Given the description of an element on the screen output the (x, y) to click on. 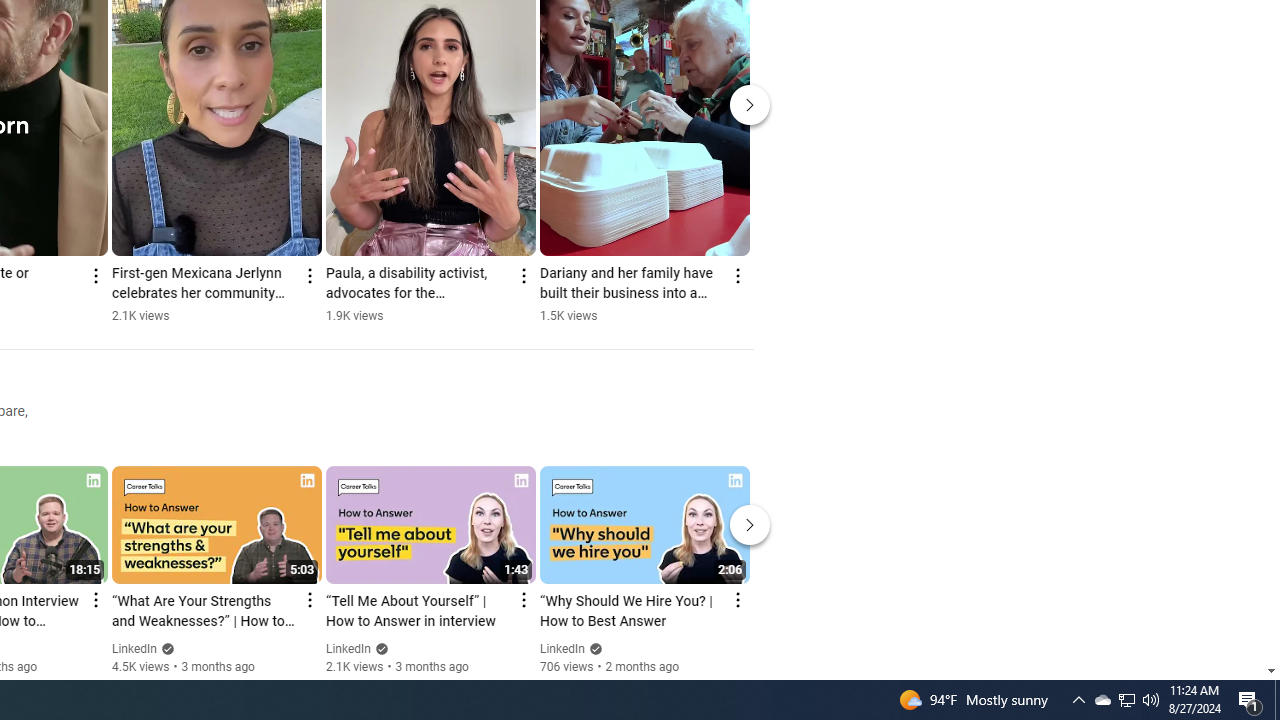
Next (749, 524)
LinkedIn (562, 649)
More actions (736, 276)
Verified (592, 647)
Action menu (736, 600)
